Given the description of an element on the screen output the (x, y) to click on. 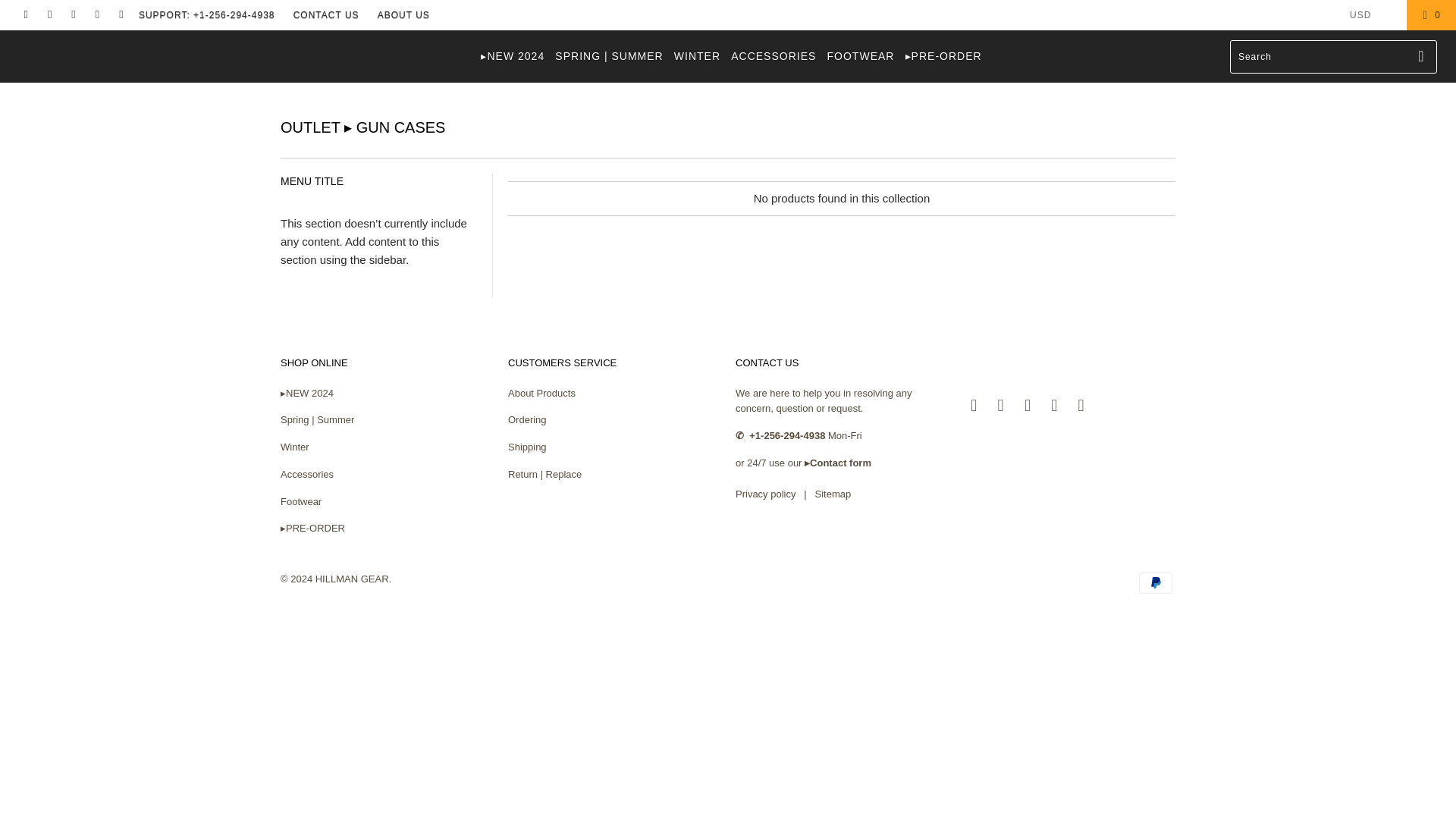
About Products (541, 392)
HILLMAN GEAR on Instagram (96, 14)
HILLMAN GEAR (123, 41)
Privacy Policy (764, 493)
Accessories (307, 473)
HILLMAN GEAR on Twitter (25, 14)
HILLMAN GEAR on Twitter (973, 405)
WINTER (697, 56)
HILLMAN GEAR on Facebook (1000, 405)
ABOUT US (403, 15)
